Given the description of an element on the screen output the (x, y) to click on. 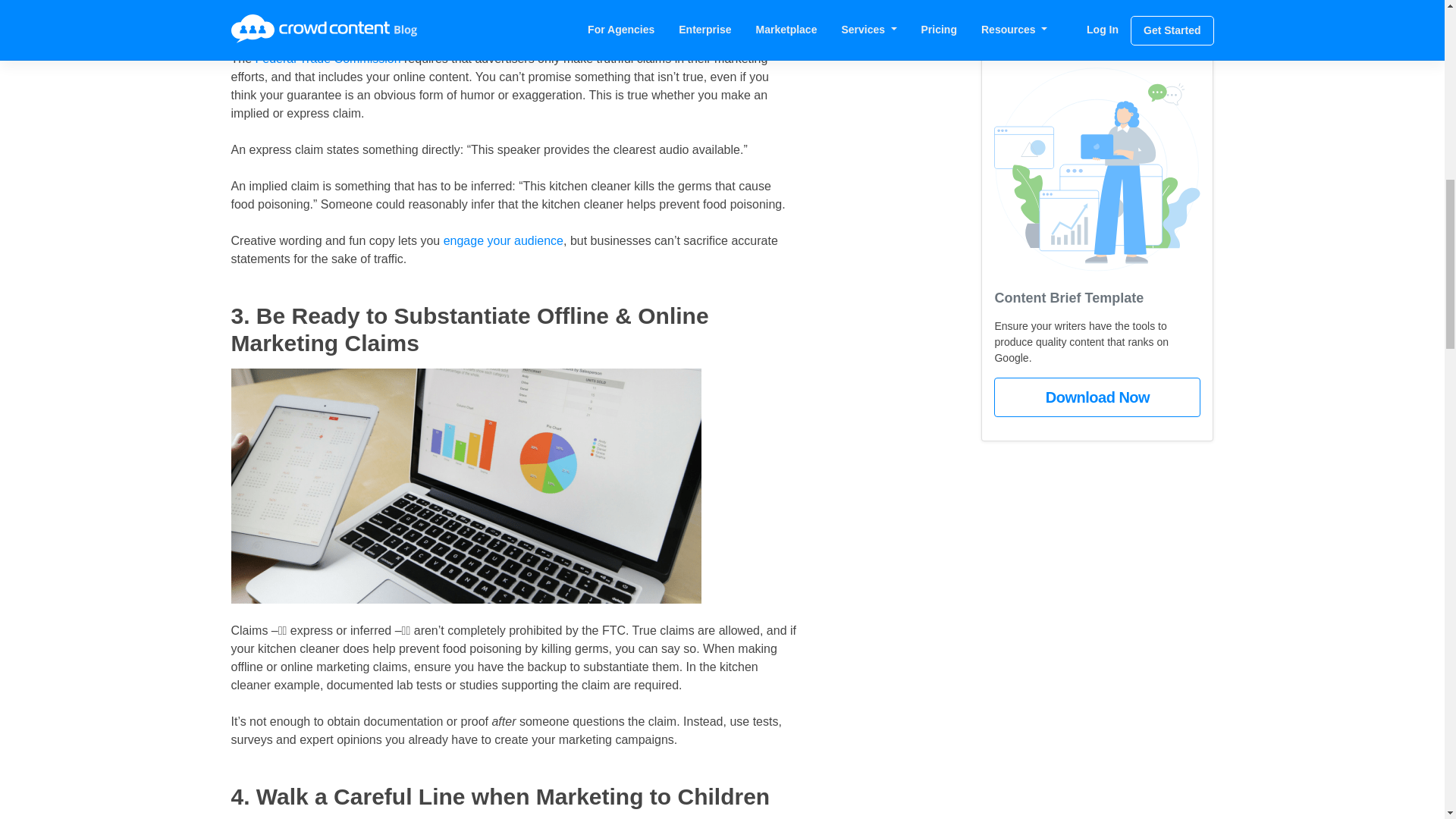
engage your audience (503, 240)
Federal Trade Commission (328, 58)
